Given the description of an element on the screen output the (x, y) to click on. 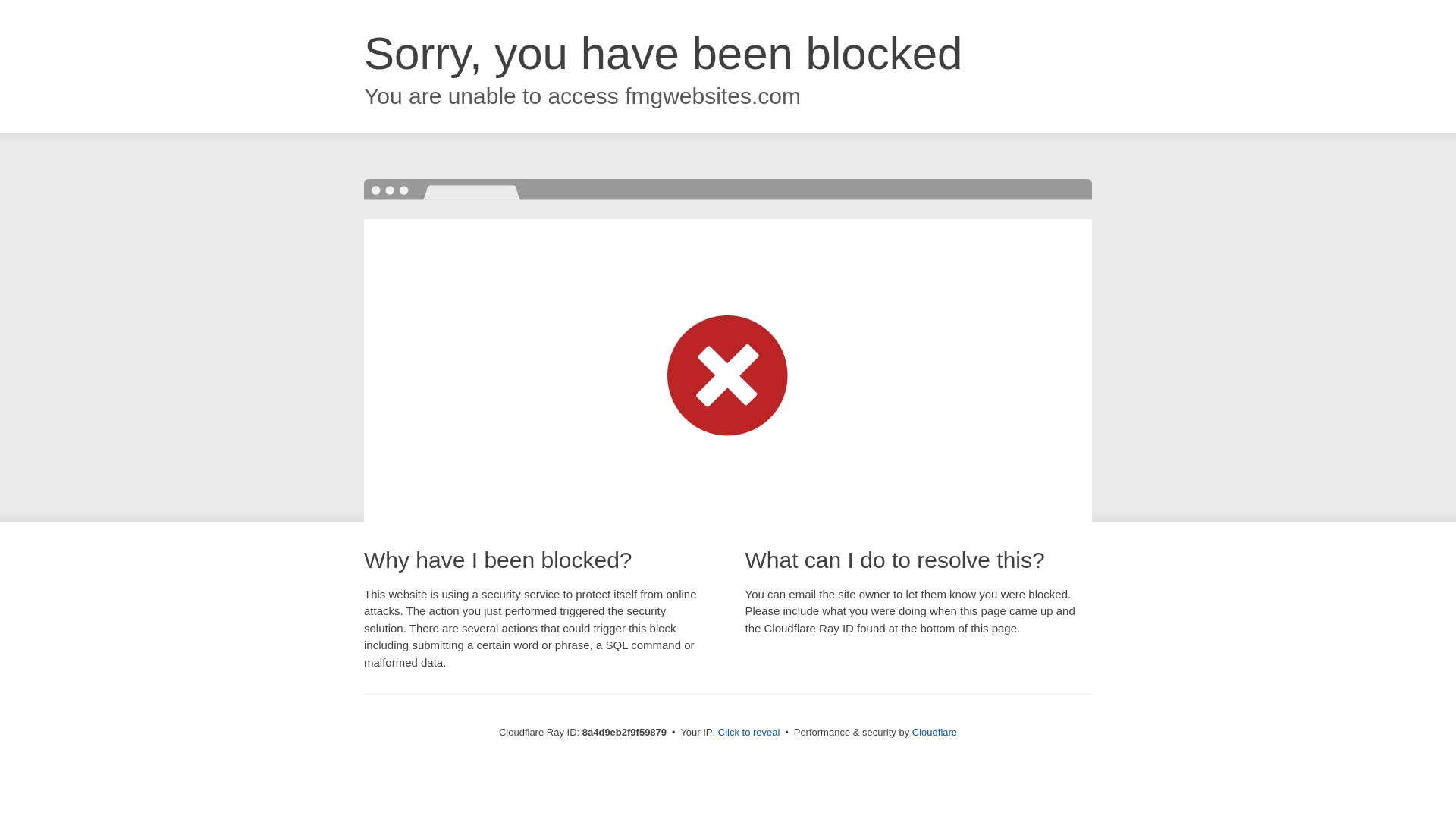
Cloudflare (934, 731)
Click to reveal (748, 732)
